Given the description of an element on the screen output the (x, y) to click on. 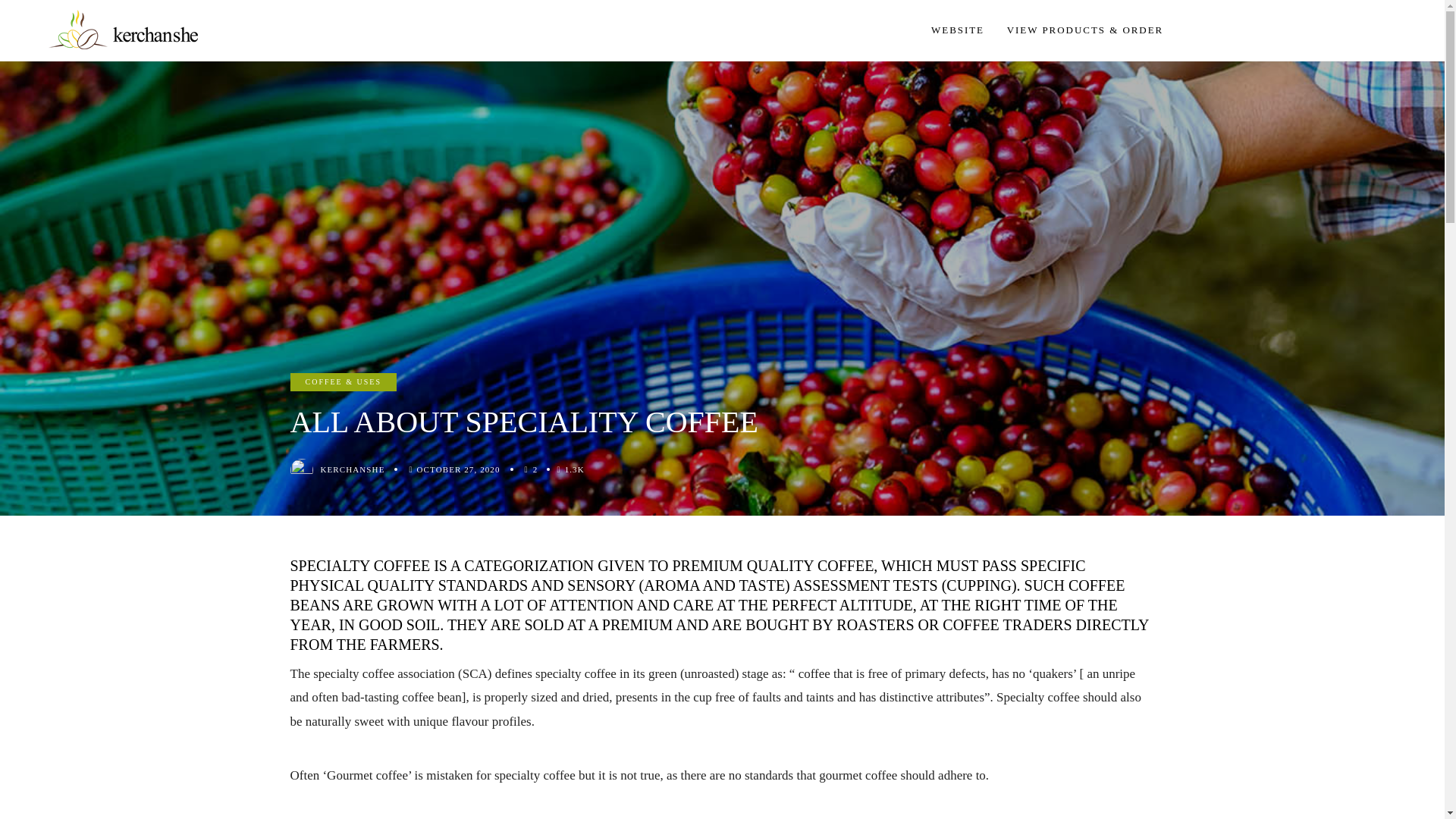
Posts by Kerchanshe (352, 469)
Like (535, 468)
KERCHANSHE (352, 469)
2 (535, 468)
